Given the description of an element on the screen output the (x, y) to click on. 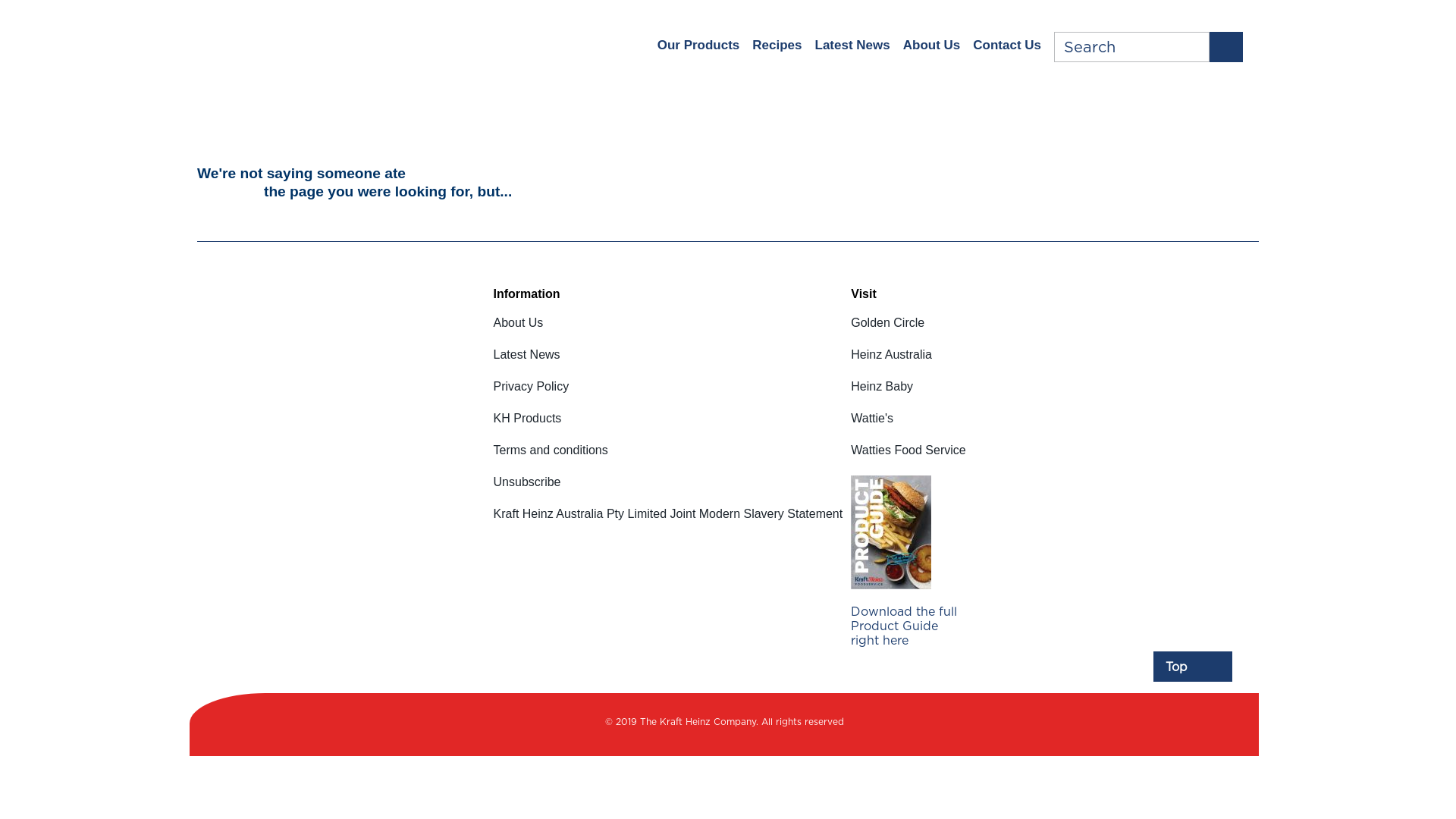
Privacy Policy Element type: text (668, 395)
About Us Element type: text (668, 332)
About Us Element type: text (931, 45)
Latest News Element type: text (852, 45)
Unsubscribe Element type: text (668, 491)
KH Products Element type: text (668, 427)
Terms and conditions Element type: text (668, 459)
Latest News Element type: text (668, 363)
Top Element type: text (1192, 666)
Home Page Element type: hover (314, 44)
Recipes Element type: text (776, 45)
Contact Us Element type: text (1006, 45)
Wattie's Element type: text (907, 427)
Our Products Element type: text (698, 45)
Watties Food Service Element type: text (907, 459)
Heinz Australia Element type: text (907, 363)
Golden Circle Element type: text (907, 332)
Heinz Baby Element type: text (907, 395)
Download the full Product Guide right here Element type: text (907, 612)
